Given the description of an element on the screen output the (x, y) to click on. 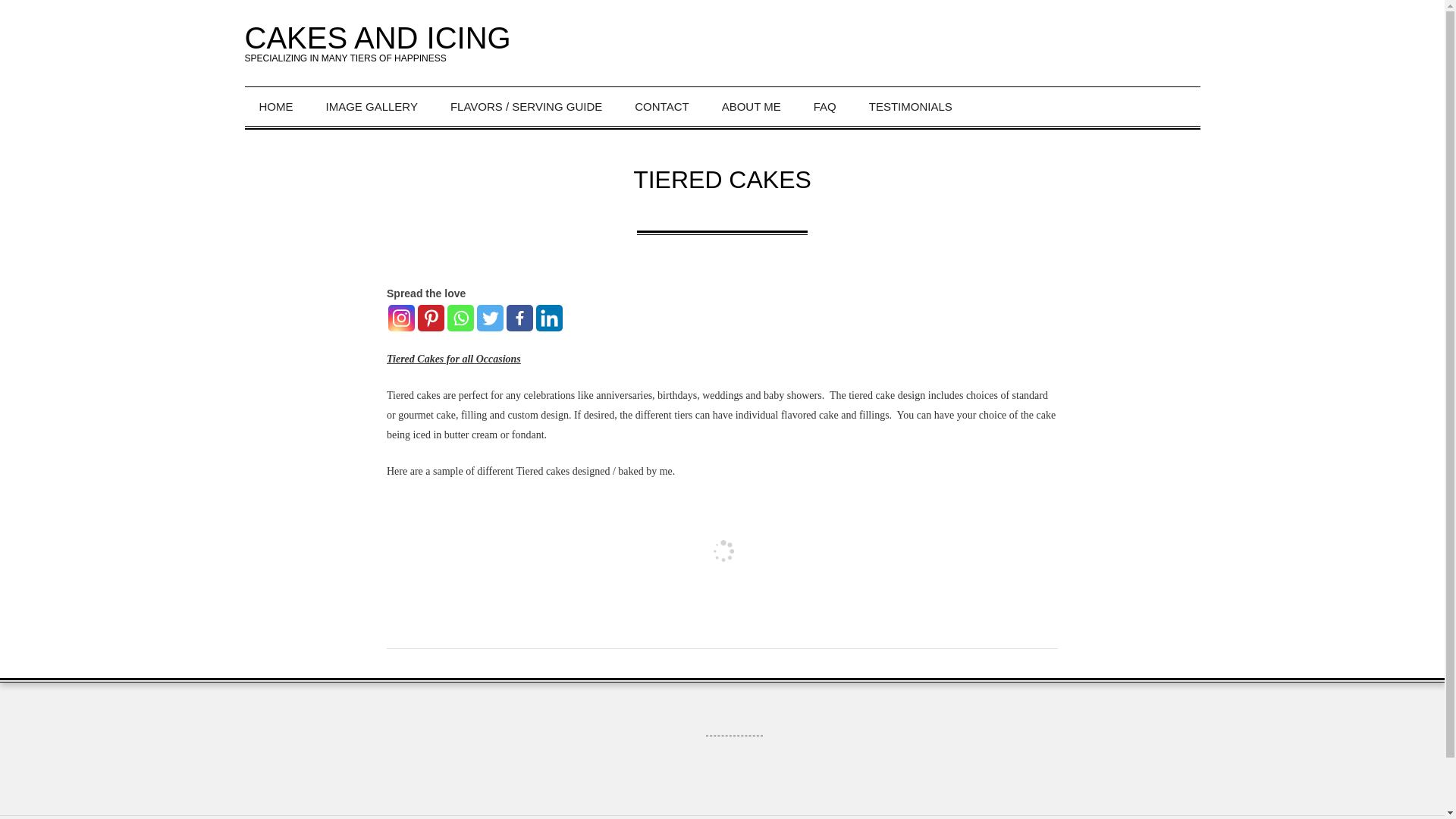
IMAGE GALLERY (373, 106)
Twitter (490, 317)
HOME (277, 106)
ABOUT ME (753, 106)
FAQ (826, 106)
Facebook (519, 317)
CAKES AND ICING (377, 37)
Pinterest (430, 317)
TESTIMONIALS (912, 106)
Whatsapp (460, 317)
